Given the description of an element on the screen output the (x, y) to click on. 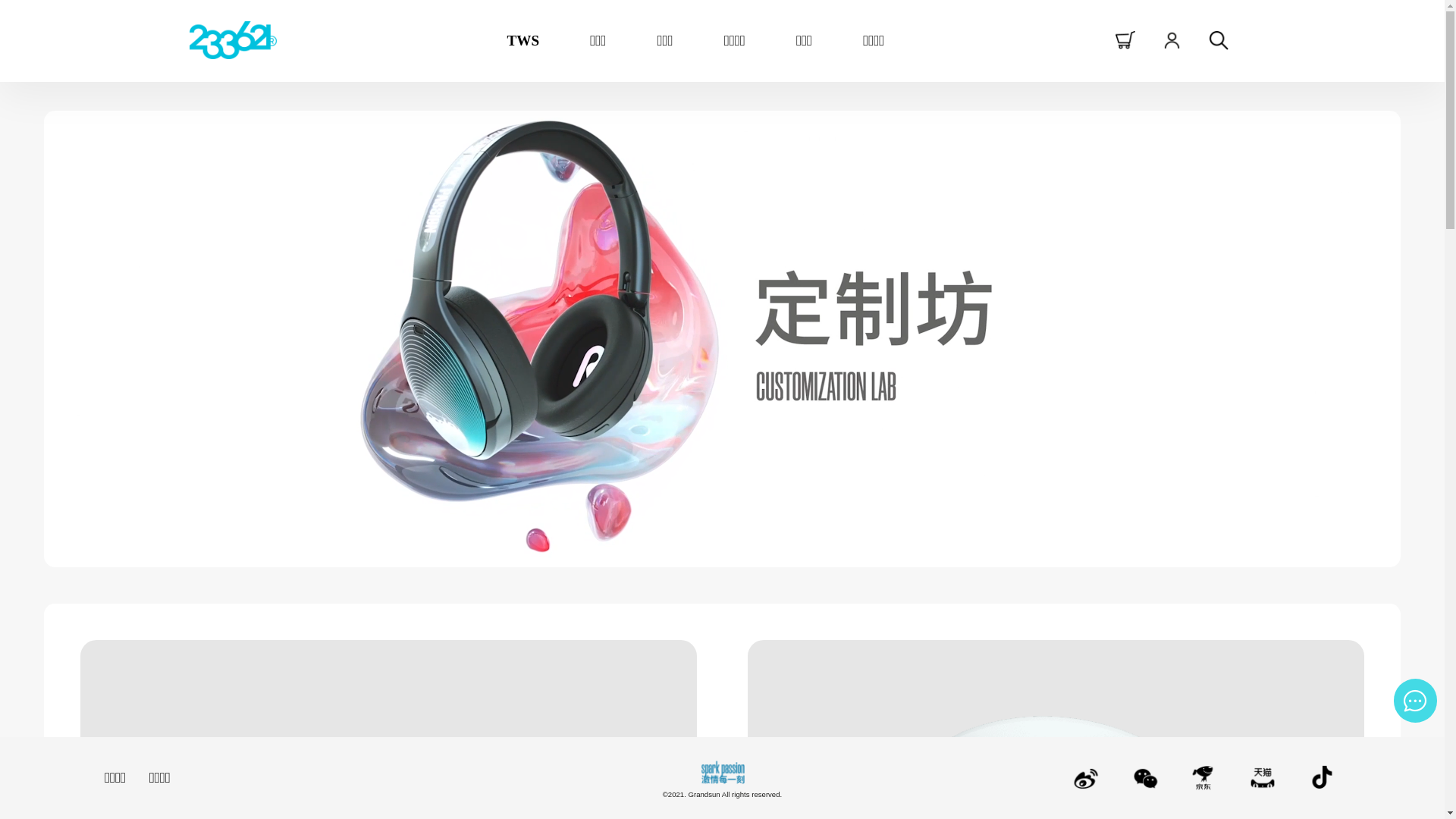
TWS Element type: text (522, 40)
